Given the description of an element on the screen output the (x, y) to click on. 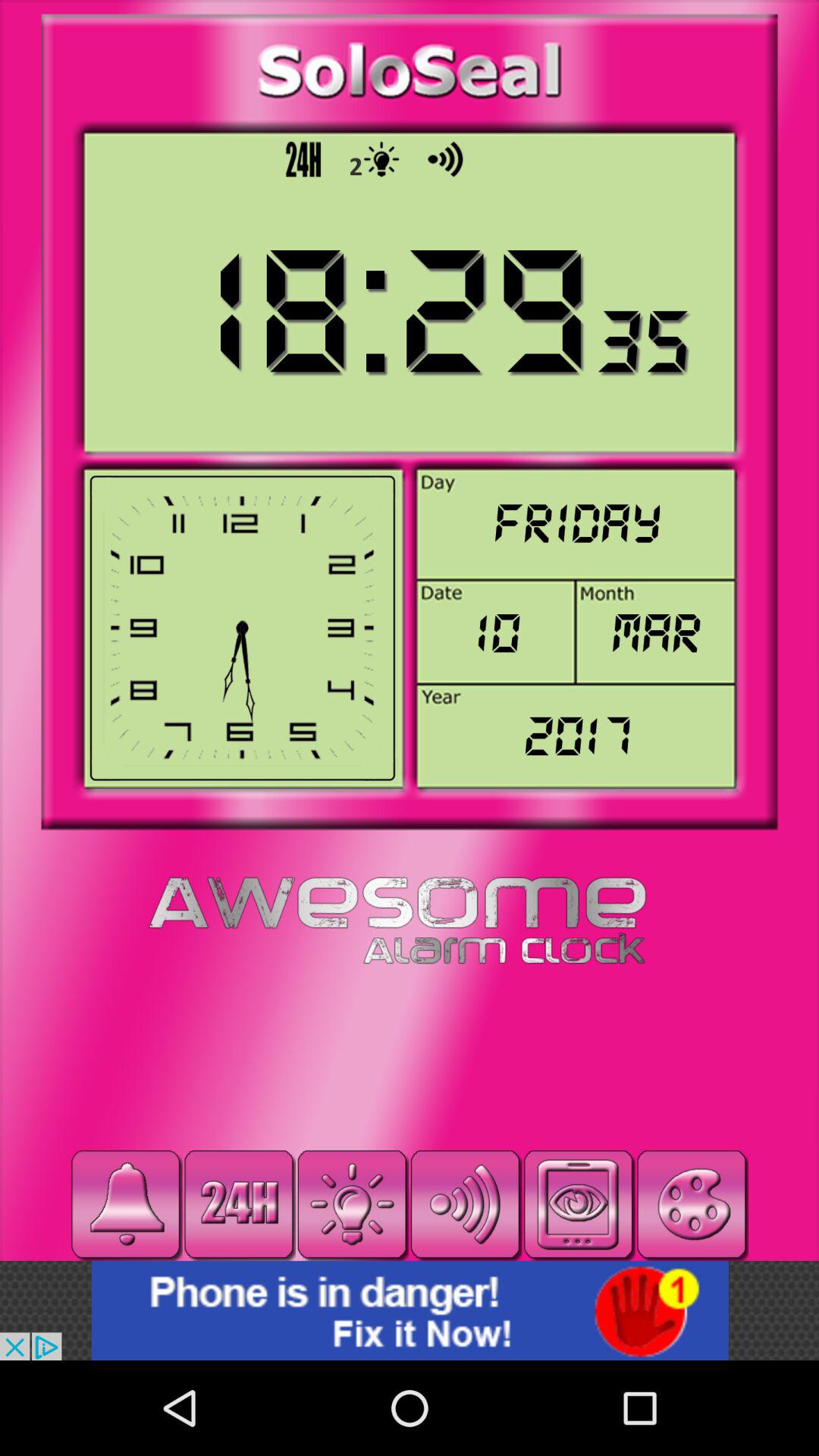
go to music (125, 1203)
